Given the description of an element on the screen output the (x, y) to click on. 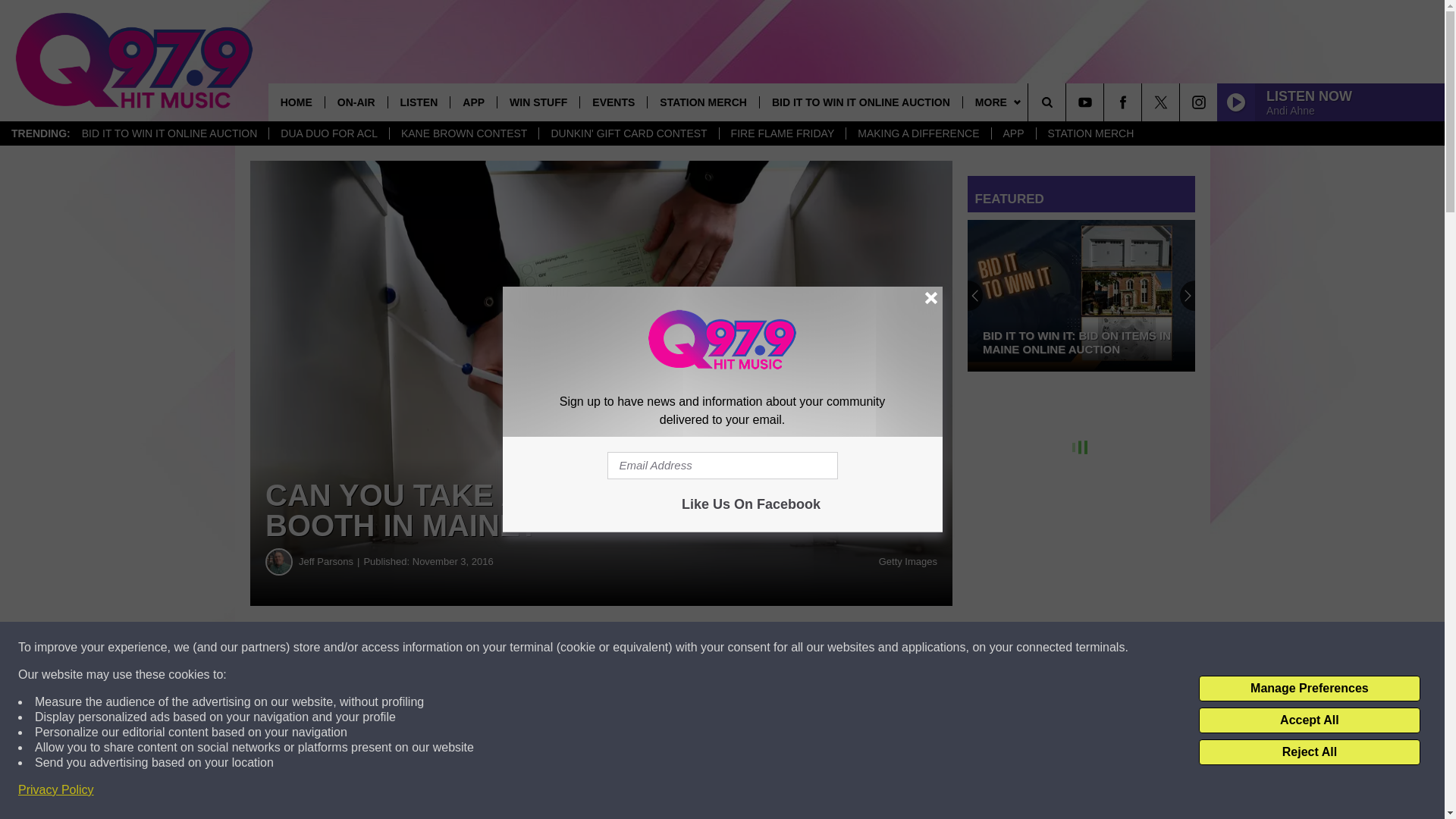
WIN STUFF (537, 102)
Share on Facebook (460, 647)
Email Address (722, 465)
KANE BROWN CONTEST (463, 133)
LISTEN (418, 102)
SEARCH (1068, 102)
Reject All (1309, 751)
HOME (295, 102)
STATION MERCH (1090, 133)
Privacy Policy (55, 789)
Manage Preferences (1309, 688)
ON-AIR (355, 102)
DUNKIN' GIFT CARD CONTEST (627, 133)
DUA DUO FOR ACL (327, 133)
APP (472, 102)
